Given the description of an element on the screen output the (x, y) to click on. 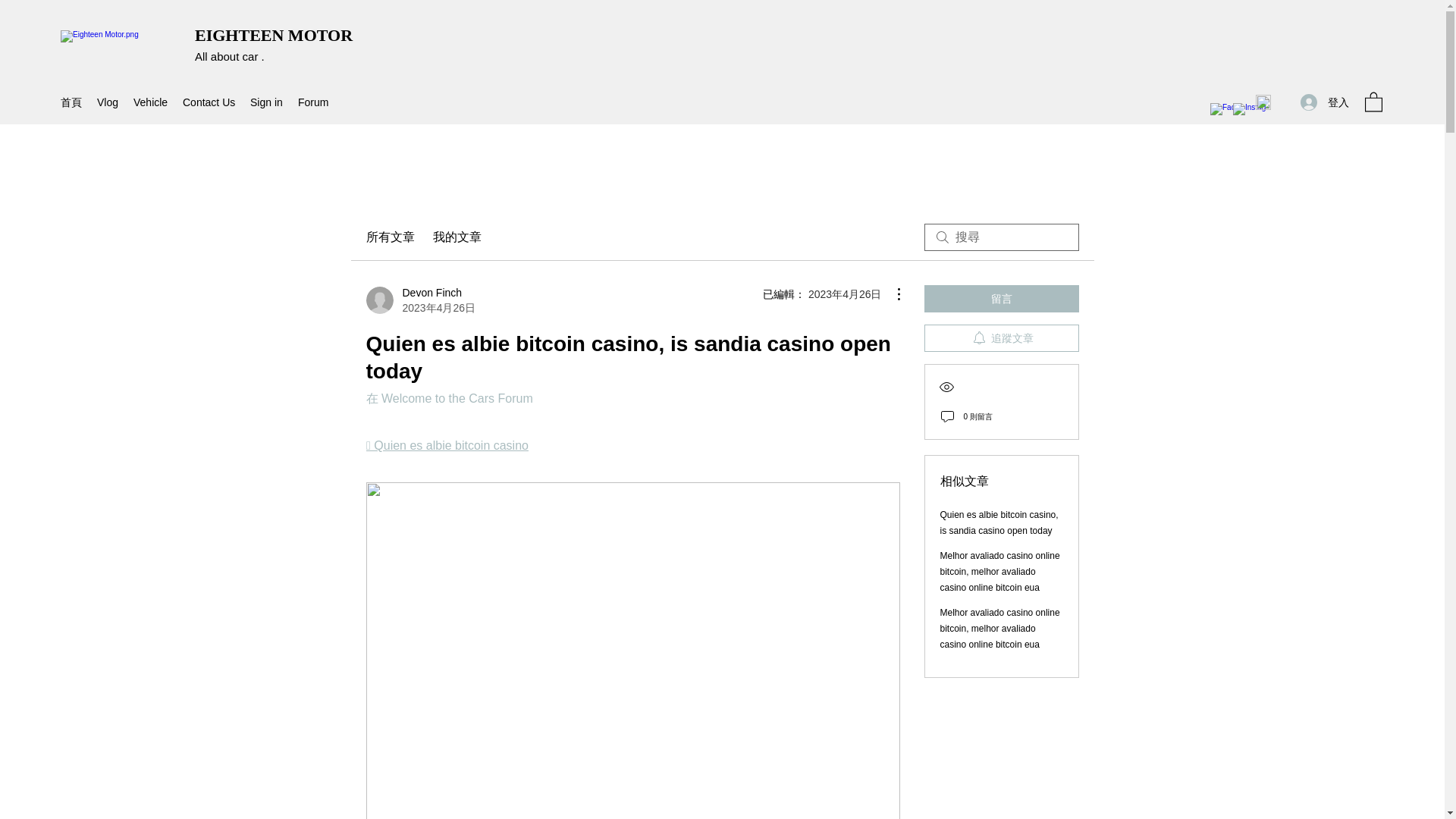
Forum (312, 101)
EIGHTEEN MOTOR (273, 35)
Sign in (266, 101)
Contact Us (208, 101)
Quien es albie bitcoin casino, is sandia casino open today (999, 522)
Vehicle (149, 101)
Vlog (106, 101)
